Given the description of an element on the screen output the (x, y) to click on. 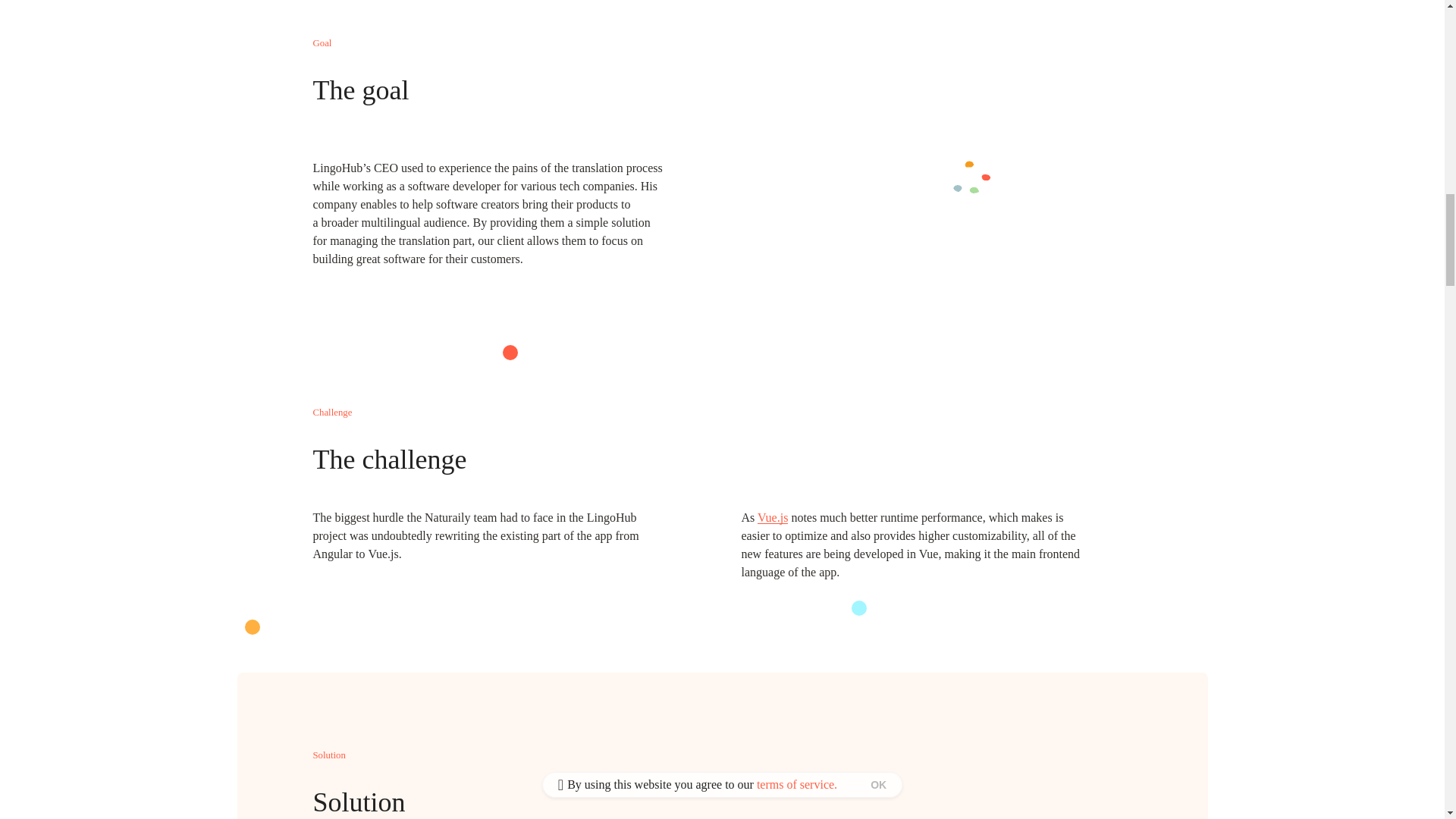
Vue.js (772, 517)
